Given the description of an element on the screen output the (x, y) to click on. 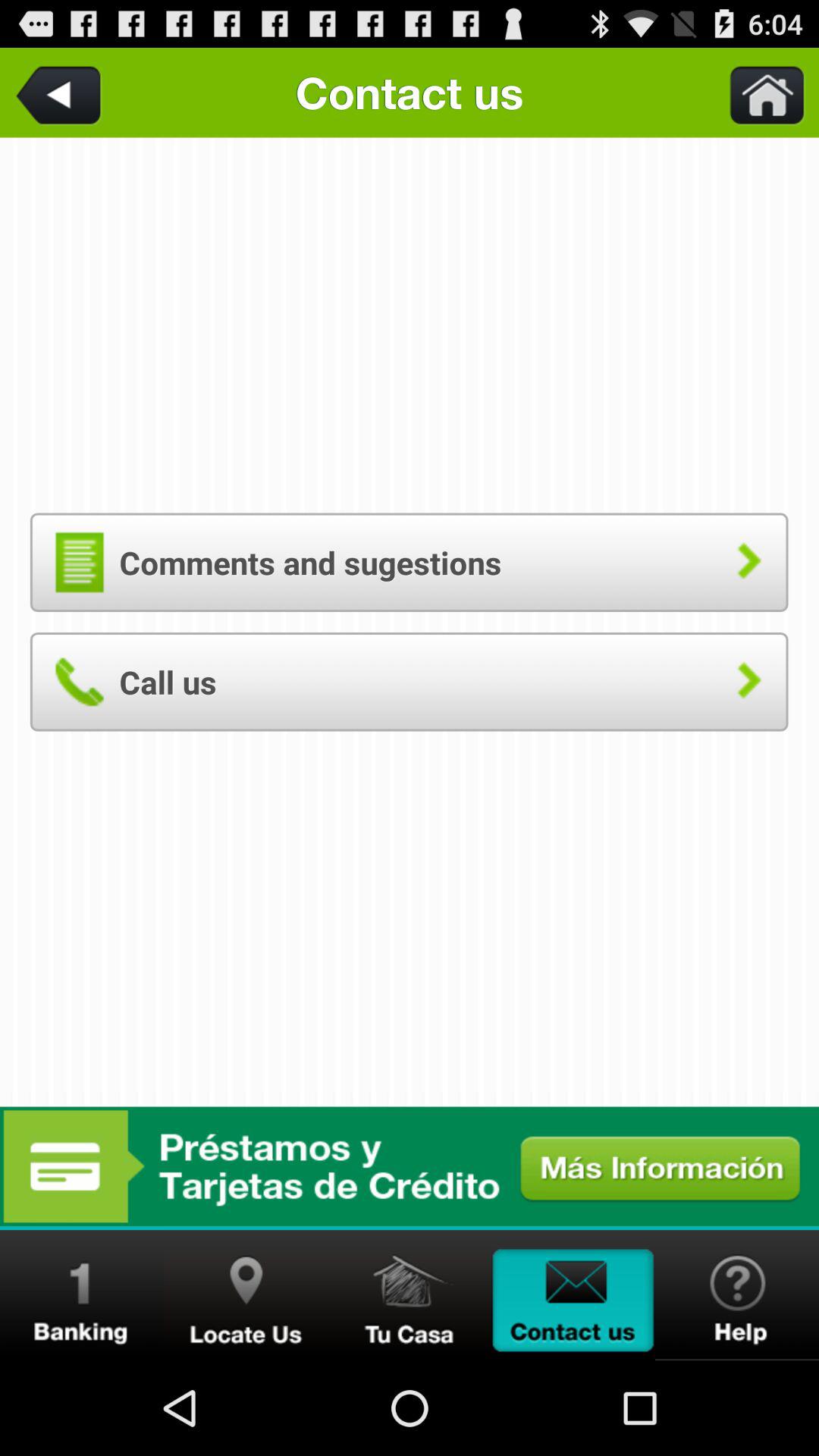
open the item above the comments and sugestions button (61, 92)
